Given the description of an element on the screen output the (x, y) to click on. 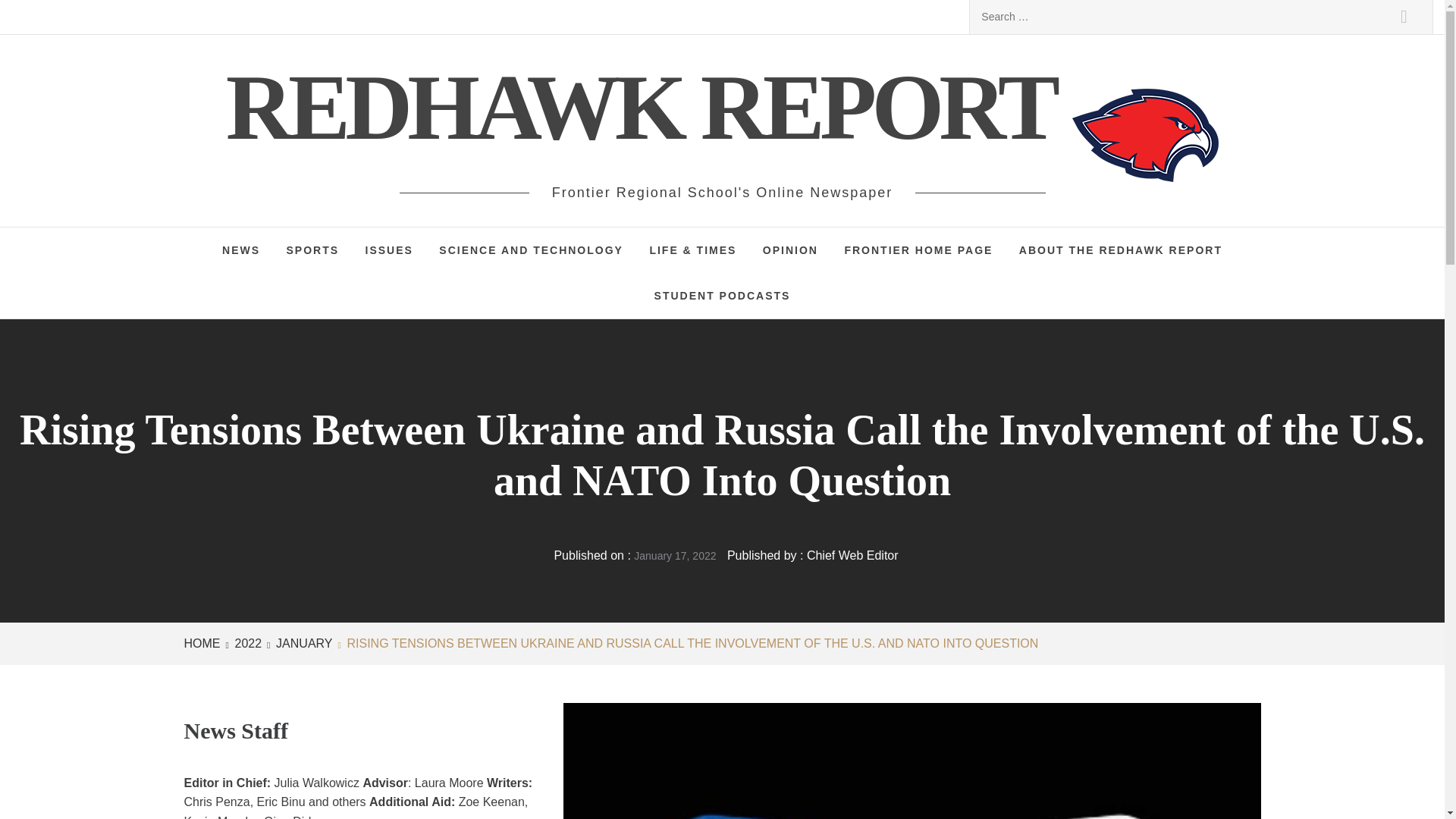
SPORTS (312, 249)
REDHAWK REPORT (648, 106)
STUDENT PODCASTS (722, 295)
HOME (204, 643)
SCIENCE AND TECHNOLOGY (531, 249)
Search (1403, 17)
OPINION (790, 249)
NEWS (240, 249)
JANUARY (301, 643)
Search (1403, 17)
